Given the description of an element on the screen output the (x, y) to click on. 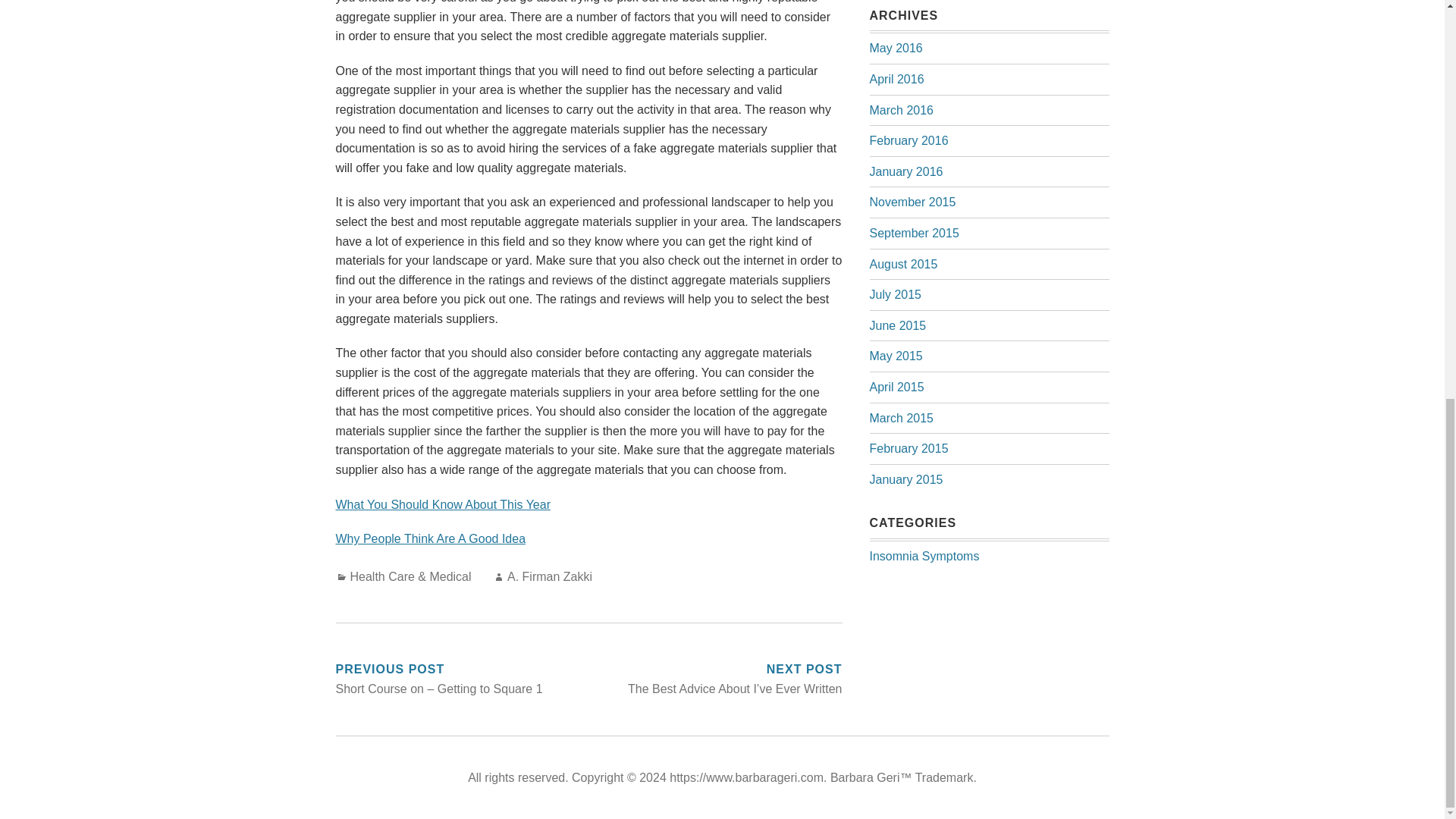
April 2015 (896, 386)
March 2016 (901, 110)
February 2015 (908, 448)
January 2016 (905, 171)
What You Should Know About This Year (442, 504)
September 2015 (913, 232)
January 2015 (905, 479)
Insomnia Symptoms (923, 555)
August 2015 (903, 264)
May 2015 (895, 355)
A. Firman Zakki (549, 576)
Why People Think Are A Good Idea (429, 538)
July 2015 (895, 294)
May 2016 (895, 47)
June 2015 (897, 325)
